Given the description of an element on the screen output the (x, y) to click on. 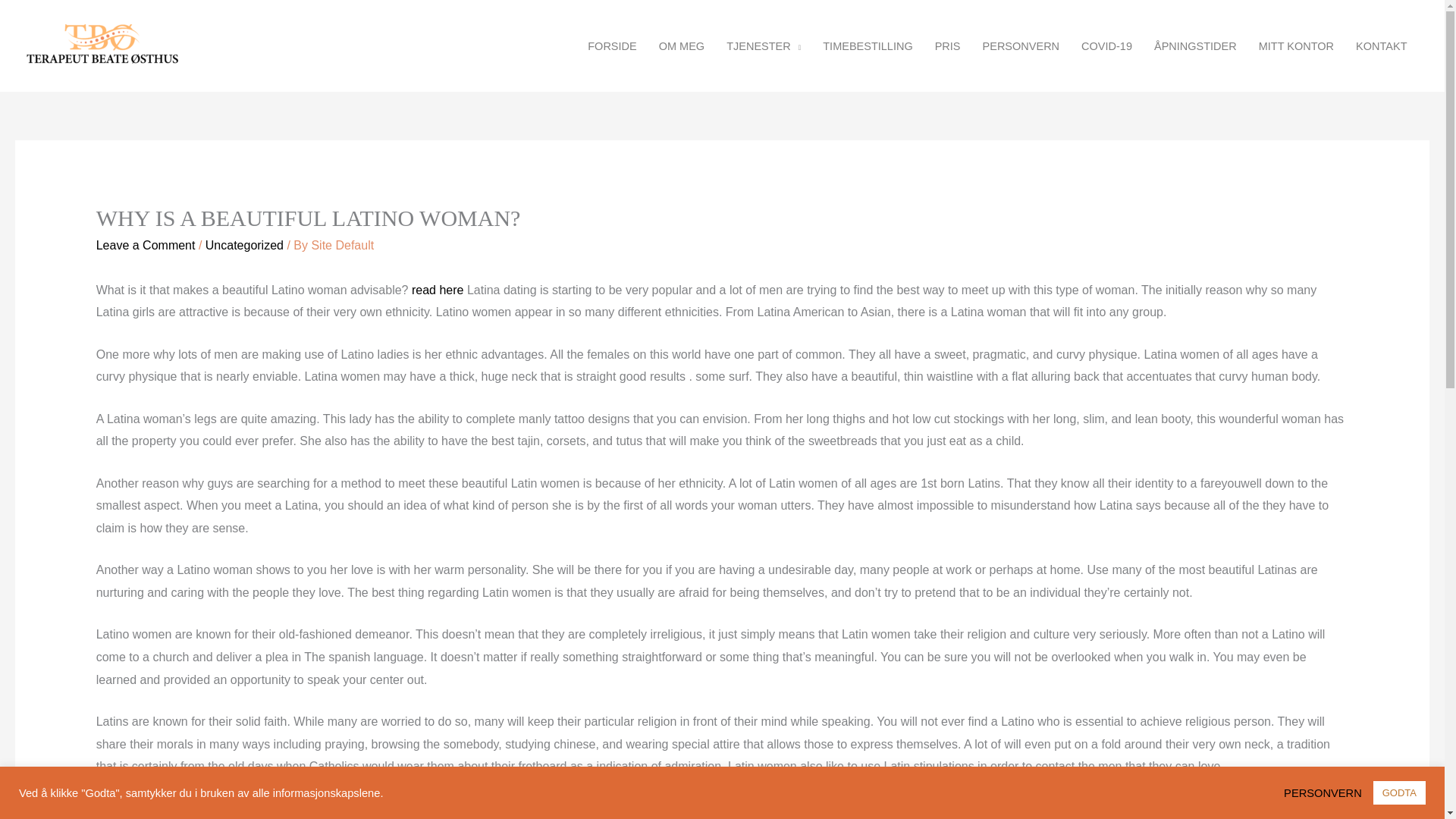
PRIS (947, 45)
TJENESTER (764, 45)
TIMEBESTILLING (867, 45)
Leave a Comment (145, 245)
MITT KONTOR (1295, 45)
OM MEG (680, 45)
read here (438, 289)
COVID-19 (1106, 45)
View all posts by Site Default (342, 245)
KONTAKT (1381, 45)
FORSIDE (611, 45)
PERSONVERN (1327, 792)
Uncategorized (244, 245)
GODTA (1399, 792)
PERSONVERN (1020, 45)
